Given the description of an element on the screen output the (x, y) to click on. 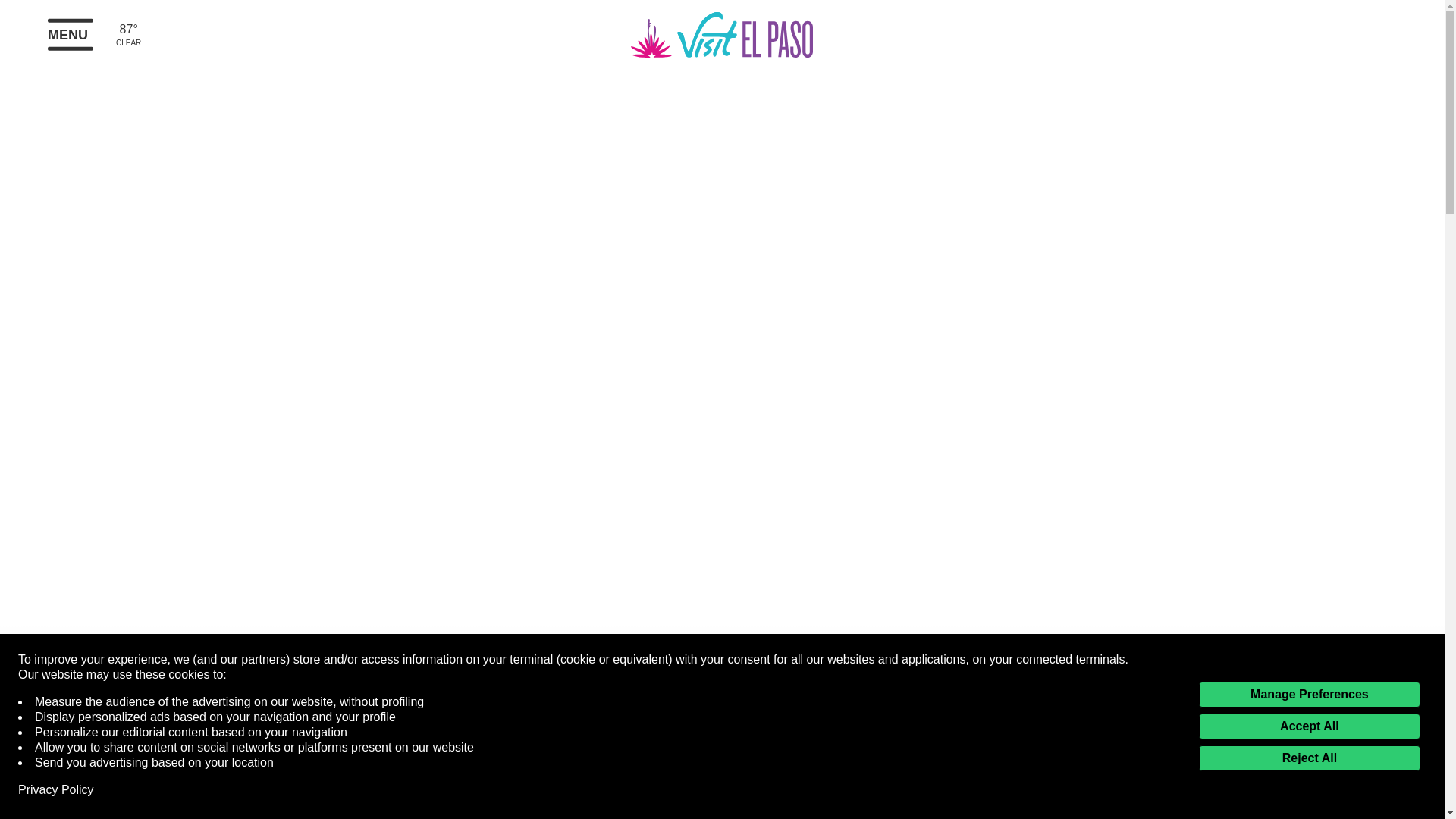
Reject All (1309, 758)
Manage Preferences (1309, 694)
Privacy Policy (55, 789)
Accept All (1309, 726)
